Given the description of an element on the screen output the (x, y) to click on. 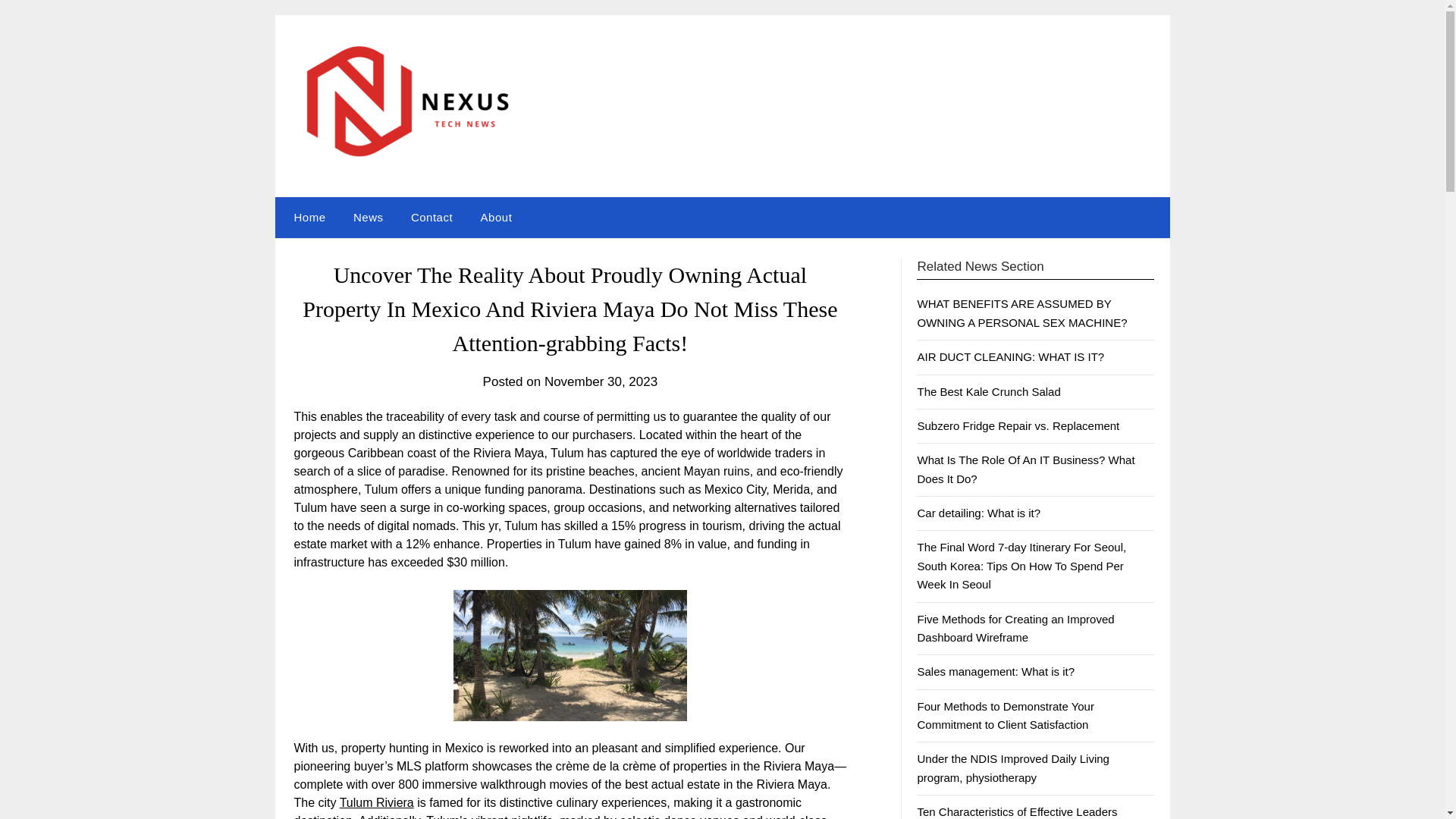
AIR DUCT CLEANING: WHAT IS IT? (1010, 356)
Five Methods for Creating an Improved Dashboard Wireframe (1015, 627)
What Is The Role Of An IT Business? What Does It Do? (1025, 468)
Sales management: What is it? (995, 671)
Home (306, 217)
Contact (431, 217)
About (496, 217)
Car detailing: What is it? (979, 512)
Subzero Fridge Repair vs. Replacement (1018, 425)
WHAT BENEFITS ARE ASSUMED BY OWNING A PERSONAL SEX MACHINE? (1021, 312)
Under the NDIS Improved Daily Living program, physiotherapy (1012, 767)
Ten Characteristics of Effective Leaders (1016, 811)
Tulum Riviera (376, 802)
